Given the description of an element on the screen output the (x, y) to click on. 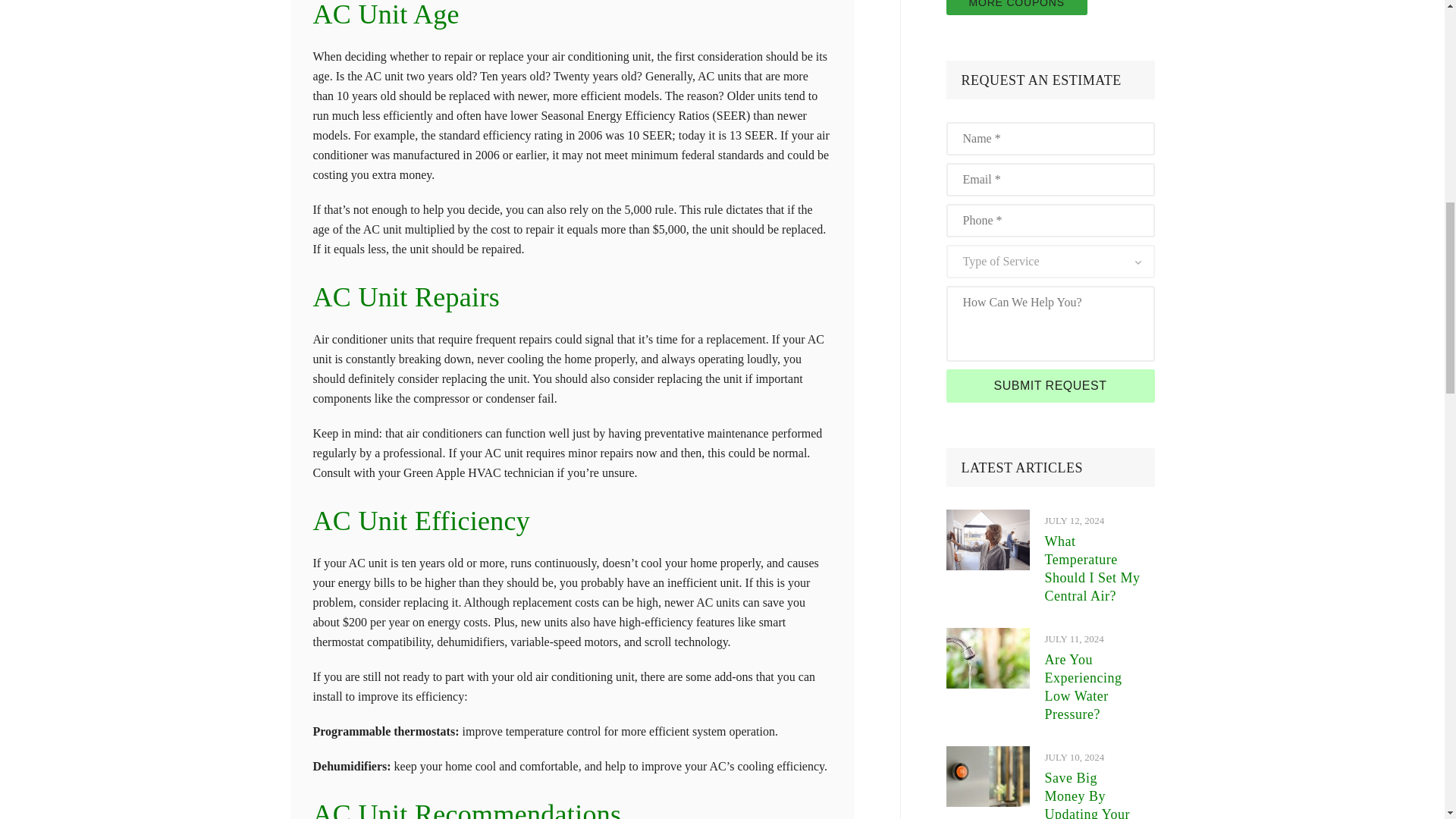
What Temperature Should I Set My Central Air? (987, 539)
Save Big Money By Updating Your Thermostat (987, 776)
Save Big Money By Updating Your Thermostat (987, 755)
Submit Request (1050, 385)
What Temperature Should I Set My Central Air? (987, 518)
Are You Experiencing Low Water Pressure? (987, 658)
Are You Experiencing Low Water Pressure? (987, 636)
